Given the description of an element on the screen output the (x, y) to click on. 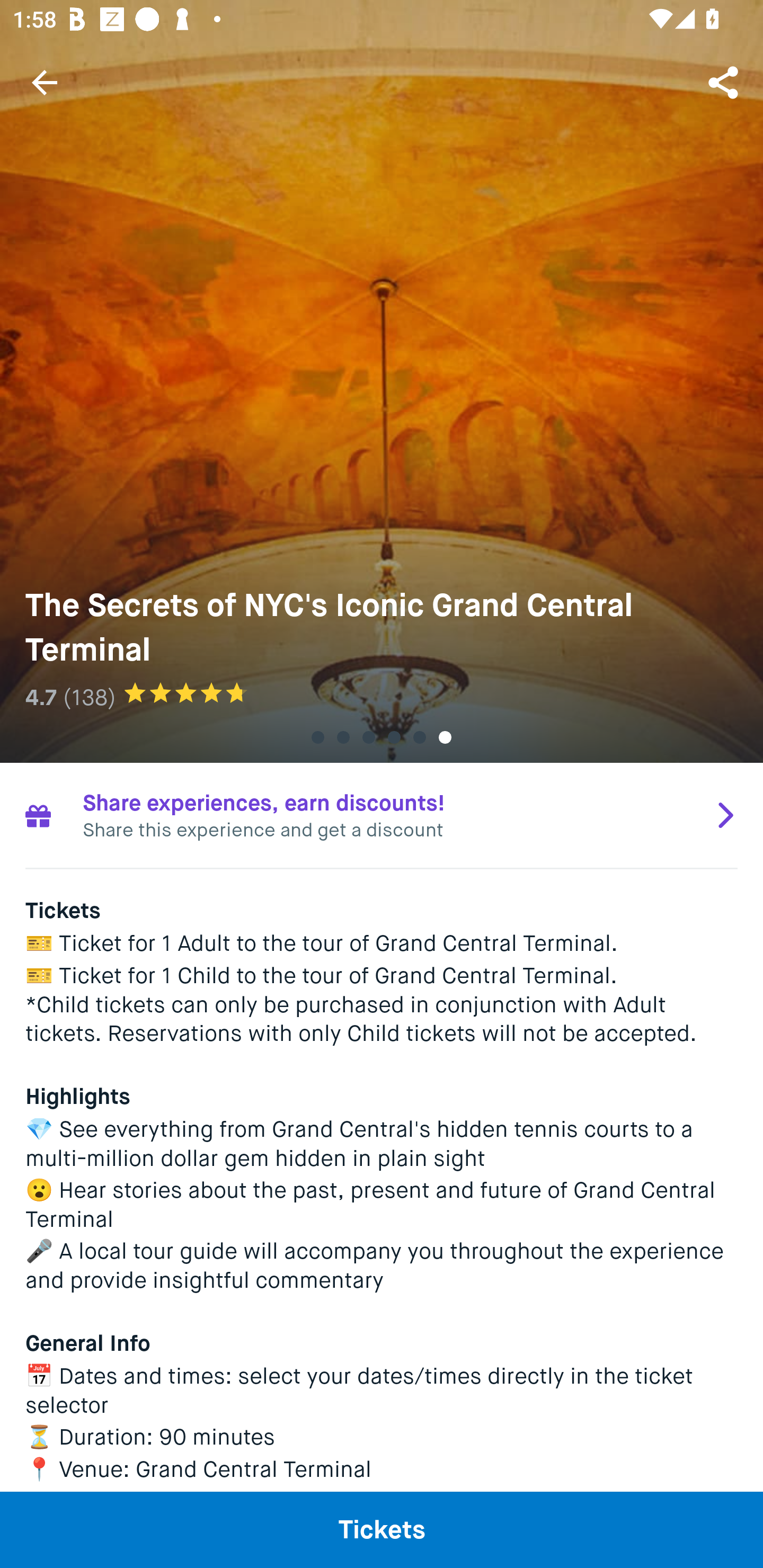
Navigate up (44, 82)
Share (724, 81)
(138) (89, 697)
Tickets (381, 1529)
